Given the description of an element on the screen output the (x, y) to click on. 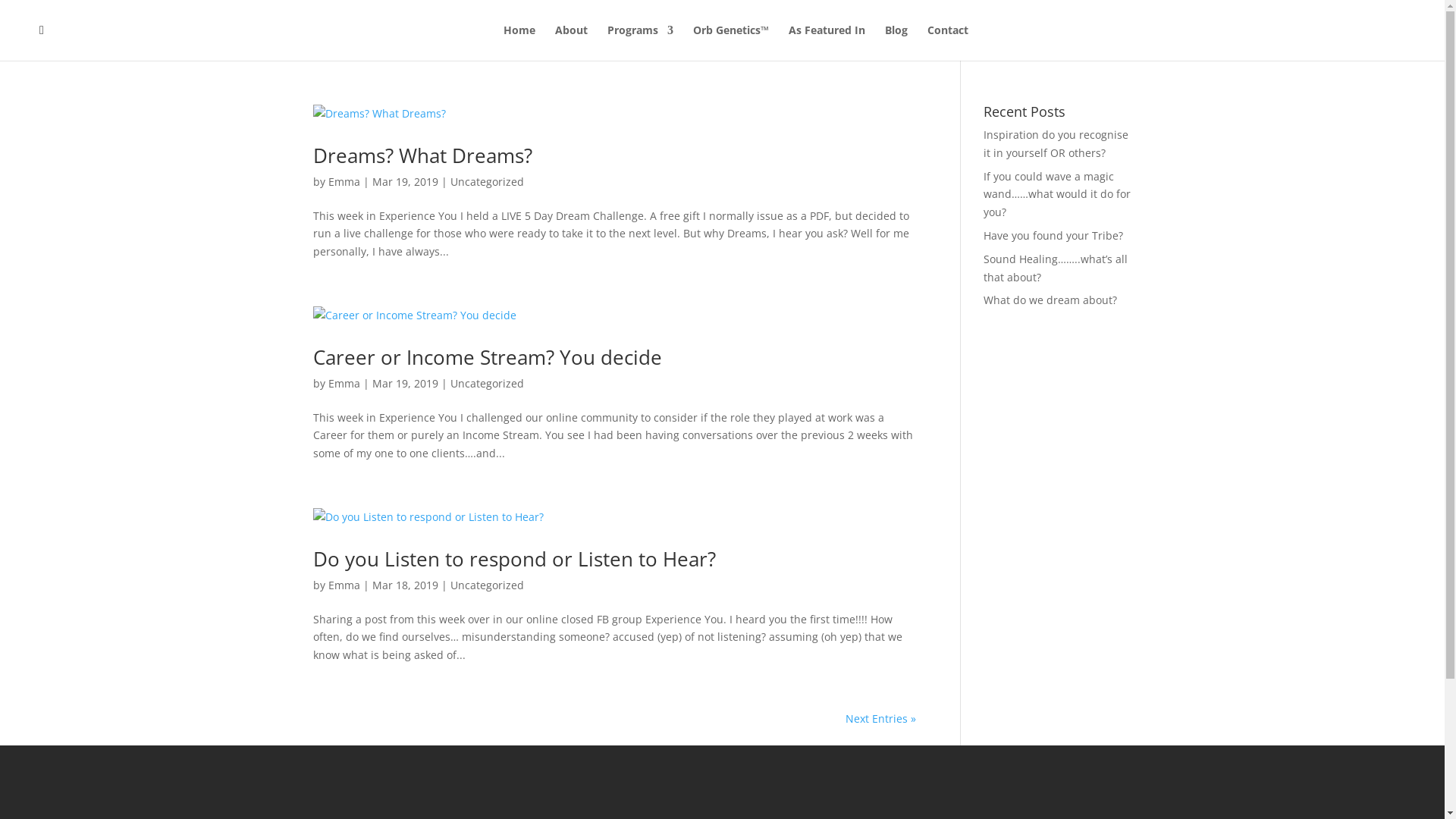
Contact Element type: text (947, 42)
Uncategorized Element type: text (487, 181)
Career or Income Stream? You decide Element type: text (486, 356)
Emma Element type: text (343, 584)
About Element type: text (571, 42)
Programs Element type: text (640, 42)
Have you found your Tribe? Element type: text (1053, 235)
What do we dream about? Element type: text (1050, 299)
Emma Element type: text (343, 383)
Uncategorized Element type: text (487, 383)
Emma Element type: text (343, 181)
Uncategorized Element type: text (487, 584)
Inspiration do you recognise it in yourself OR others? Element type: text (1055, 143)
As Featured In Element type: text (826, 42)
Home Element type: text (519, 42)
Blog Element type: text (895, 42)
Dreams? What Dreams? Element type: text (421, 155)
Do you Listen to respond or Listen to Hear? Element type: text (513, 558)
